Given the description of an element on the screen output the (x, y) to click on. 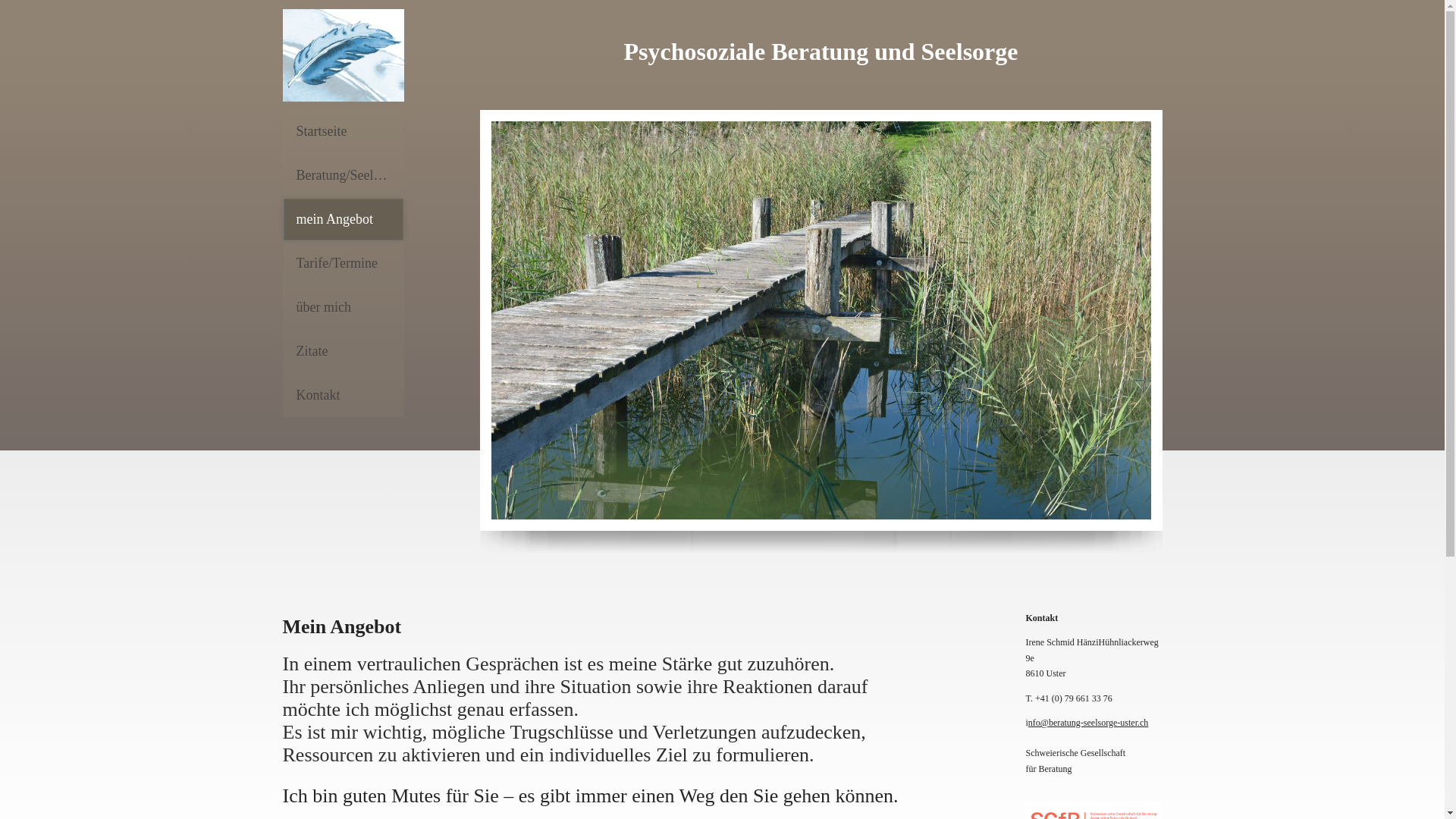
Beratung/Seelsorge Element type: text (342, 175)
nfo@beratung-seelsorge-uster.ch Element type: text (1088, 722)
Kontakt Element type: text (342, 395)
Startseite Element type: text (342, 131)
Zitate Element type: text (342, 351)
mein Angebot Element type: text (342, 219)
Tarife/Termine Element type: text (342, 263)
